Given the description of an element on the screen output the (x, y) to click on. 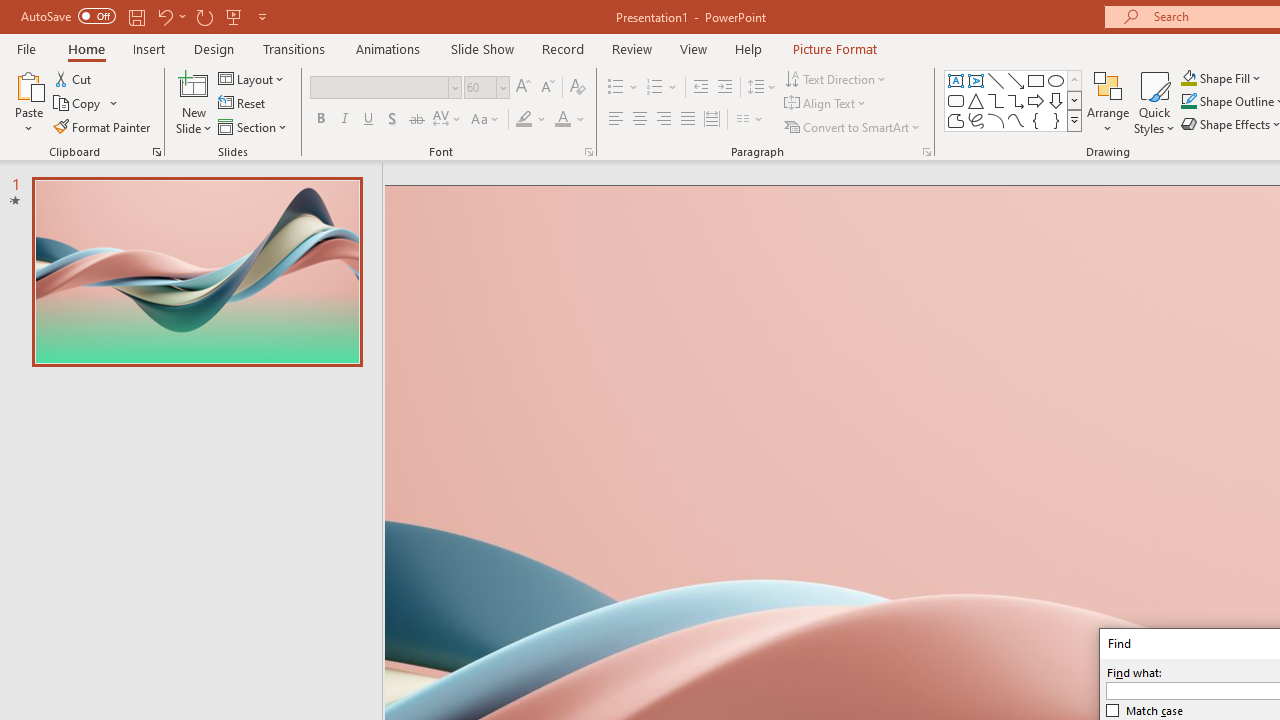
Freeform: Shape (955, 120)
Change Case (486, 119)
Columns (750, 119)
Font Size (480, 87)
Font (385, 87)
Font... (588, 151)
Align Left (616, 119)
Font Color (569, 119)
Underline (369, 119)
AutoSave (68, 16)
Quick Access Toolbar (145, 16)
Freeform: Scribble (975, 120)
Increase Font Size (522, 87)
Home (86, 48)
